Given the description of an element on the screen output the (x, y) to click on. 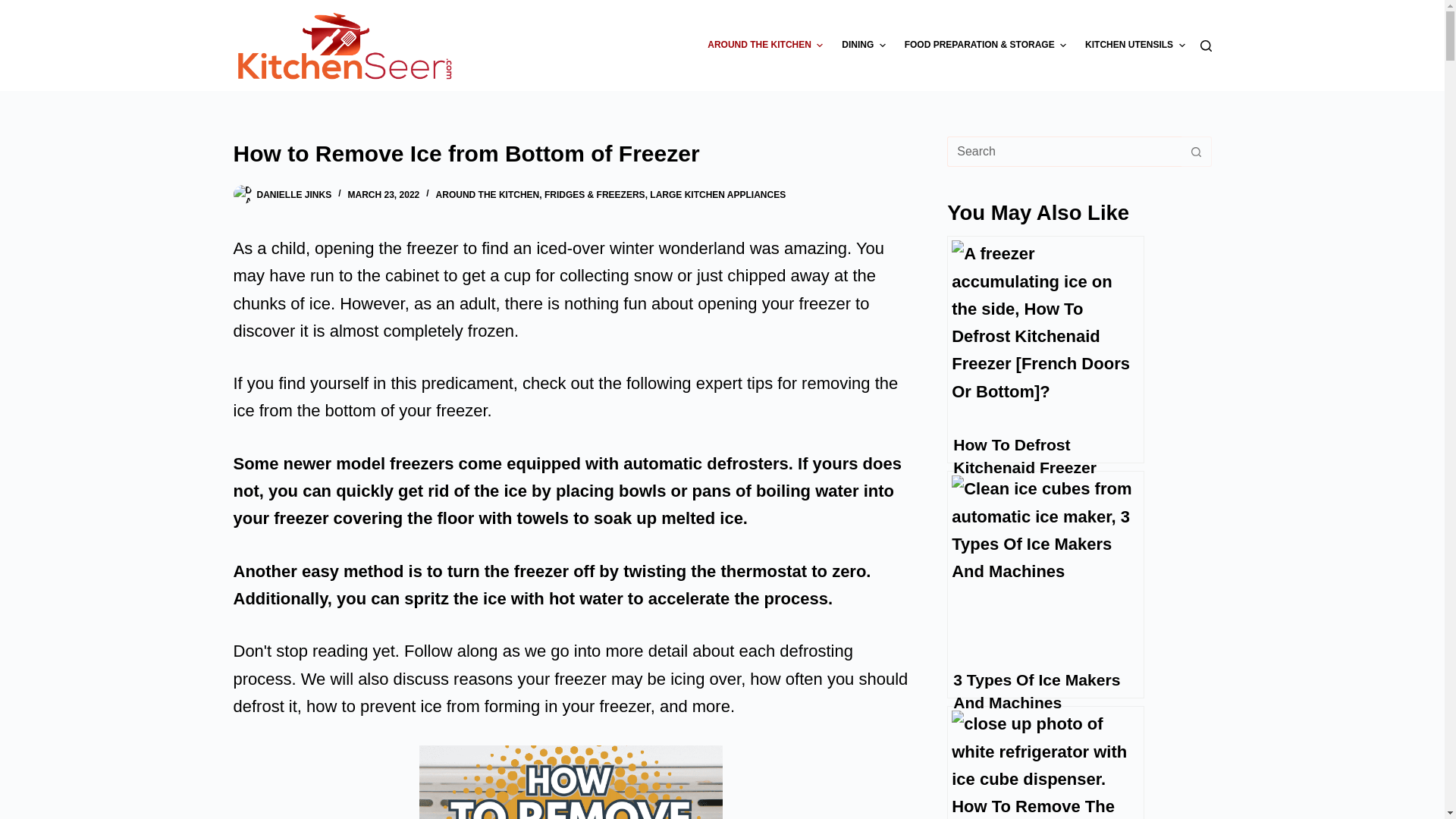
Search for... (1063, 151)
Skip to content (15, 7)
How To Remove The Ice Maker From A Bosch Refrigerator (1045, 762)
Posts by Danielle Jinks (293, 194)
How to Remove Ice from Bottom of Freezer (570, 153)
3 Types Of Ice Makers And Machines (1045, 584)
